Given the description of an element on the screen output the (x, y) to click on. 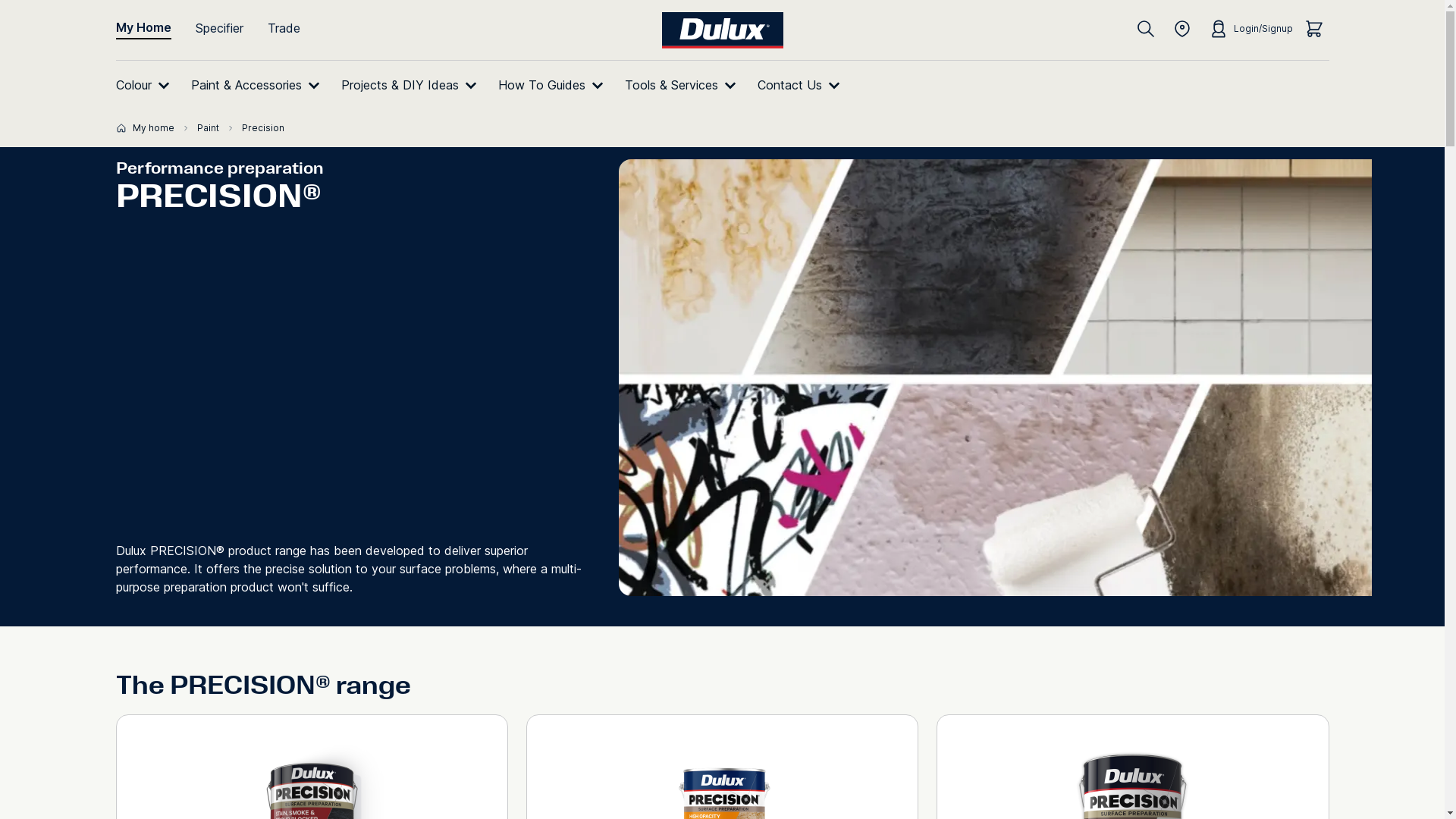
Paint Element type: text (216, 127)
Specifier Element type: text (219, 27)
Colour Element type: text (145, 84)
Contact Us Element type: text (800, 84)
Login/Signup Element type: text (1247, 28)
Paint & Accessories Element type: text (258, 84)
How To Guides Element type: text (552, 84)
Projects & DIY Ideas Element type: text (412, 84)
My Home Element type: text (142, 28)
Specifier Element type: text (231, 27)
Trade Element type: text (282, 27)
My home Element type: text (152, 127)
Trade Element type: text (294, 27)
My Home Element type: text (154, 28)
Tools & Services Element type: text (683, 84)
